Given the description of an element on the screen output the (x, y) to click on. 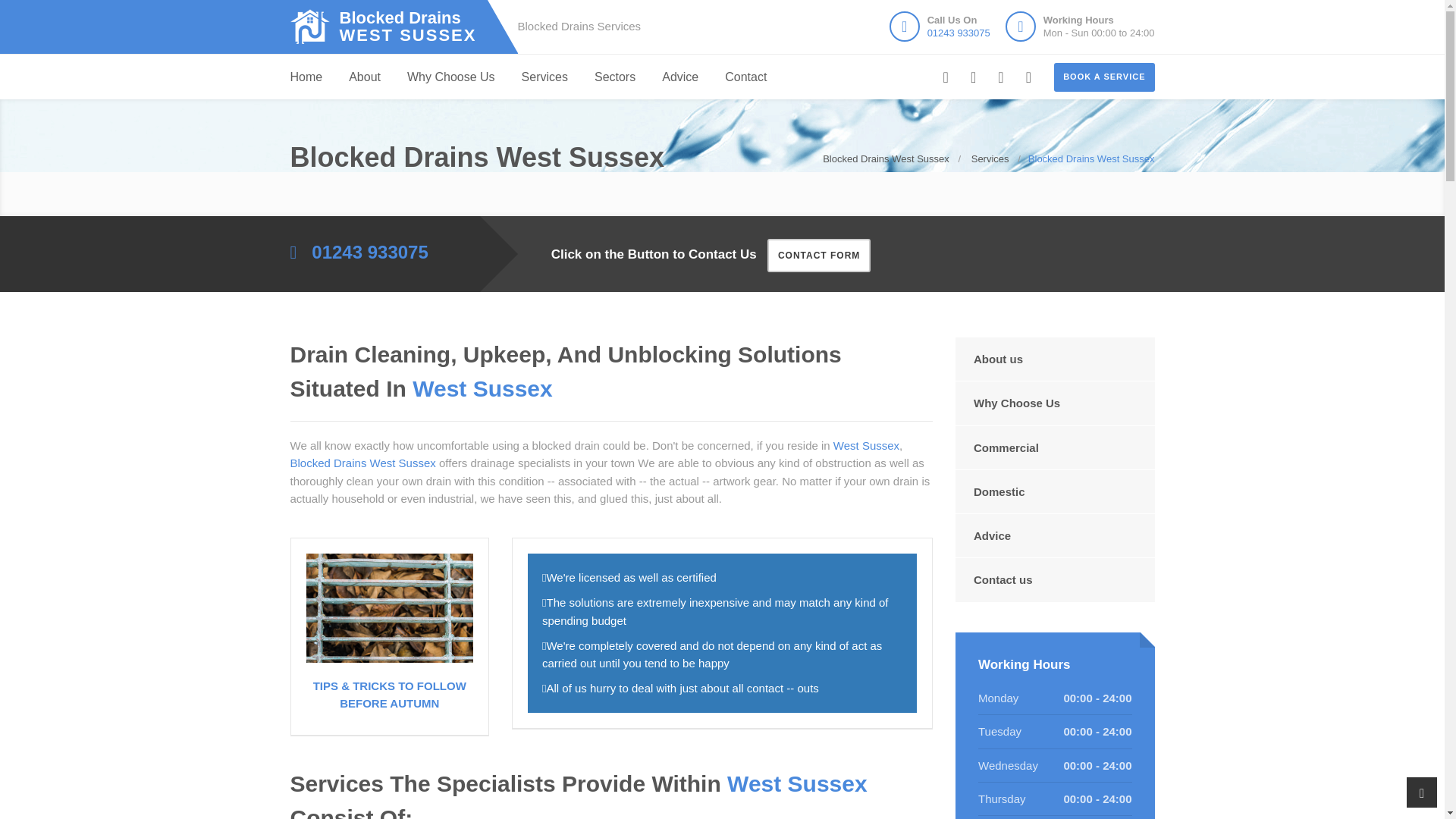
BOOK A SERVICE (1104, 77)
01243 933075 (958, 32)
Why Choose Us (451, 76)
Sectors (614, 76)
Blocked Drains West Sussex (395, 27)
Services (395, 27)
